Given the description of an element on the screen output the (x, y) to click on. 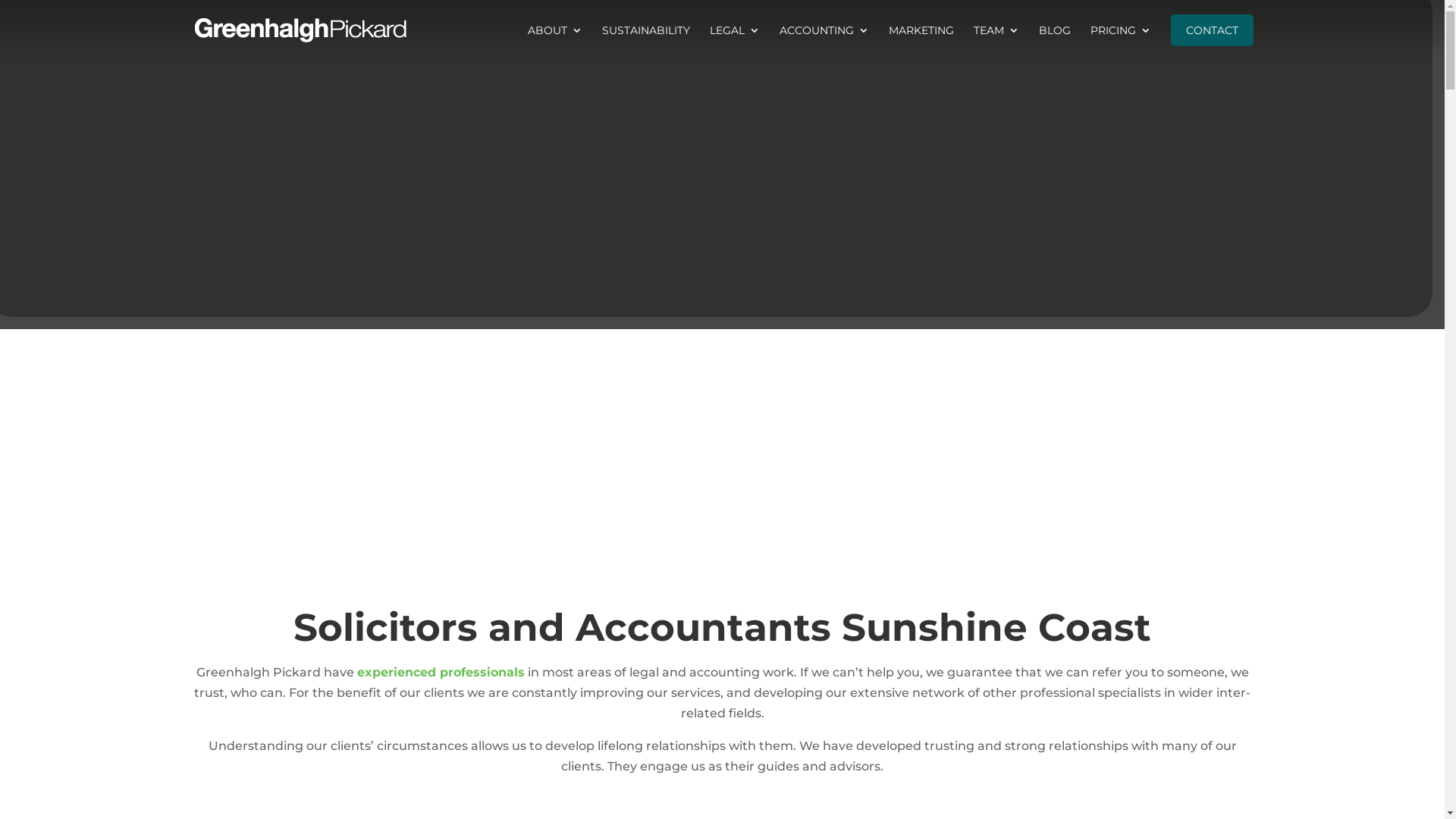
ACCOUNTING Element type: text (824, 42)
TEAM Element type: text (996, 42)
SUSTAINABILITY Element type: text (646, 42)
CONTACT Element type: text (1211, 30)
MARKETING Element type: text (920, 42)
PRICING Element type: text (1120, 42)
LEGAL Element type: text (734, 42)
experienced professionals Element type: text (440, 672)
BLOG Element type: text (1054, 42)
ABOUT Element type: text (554, 42)
